Given the description of an element on the screen output the (x, y) to click on. 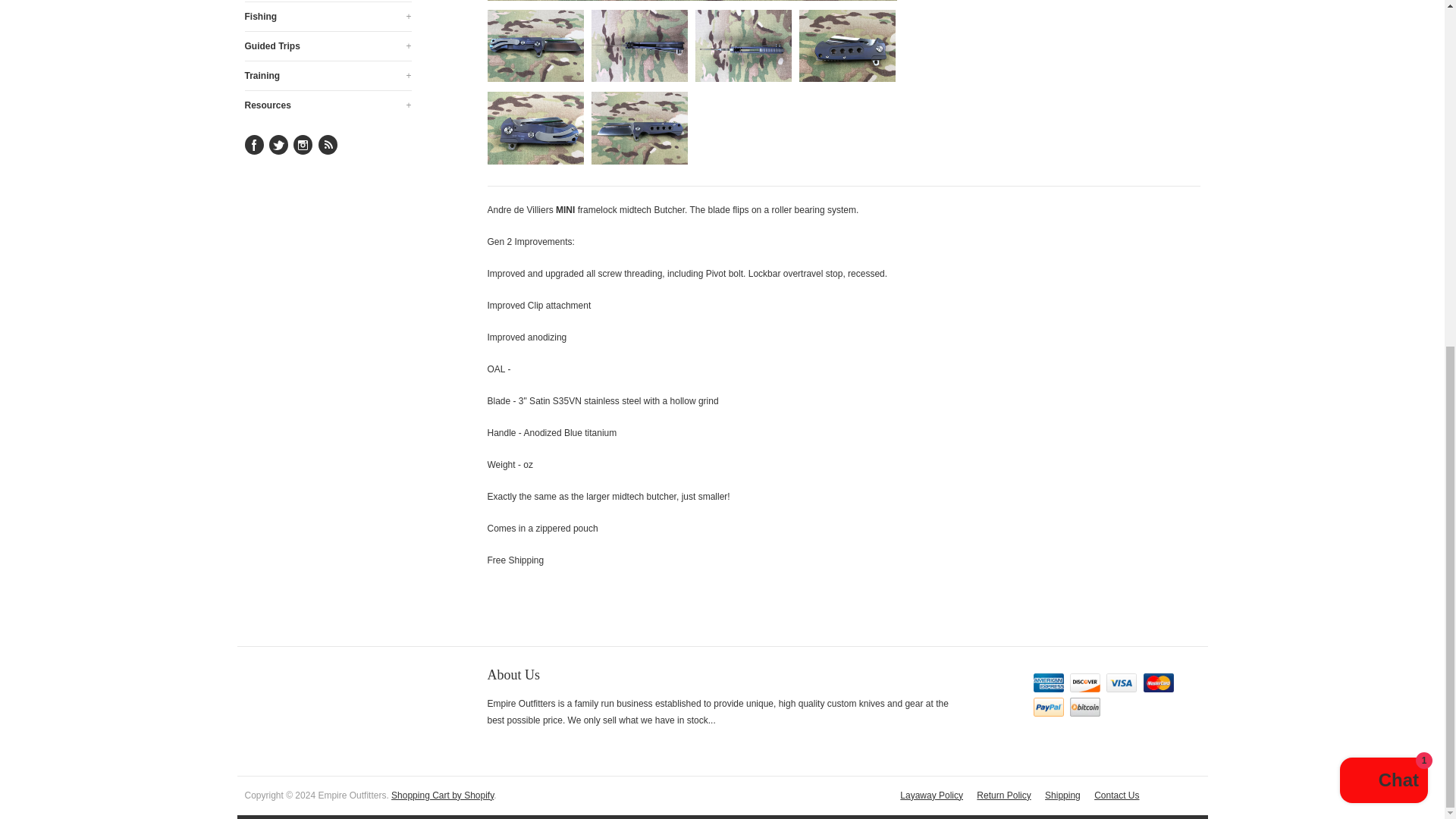
Layaway Policy (930, 795)
Shipping (1062, 795)
Shopify online store chat (1383, 187)
Return Policy (1003, 795)
Contact Us (1116, 795)
